Given the description of an element on the screen output the (x, y) to click on. 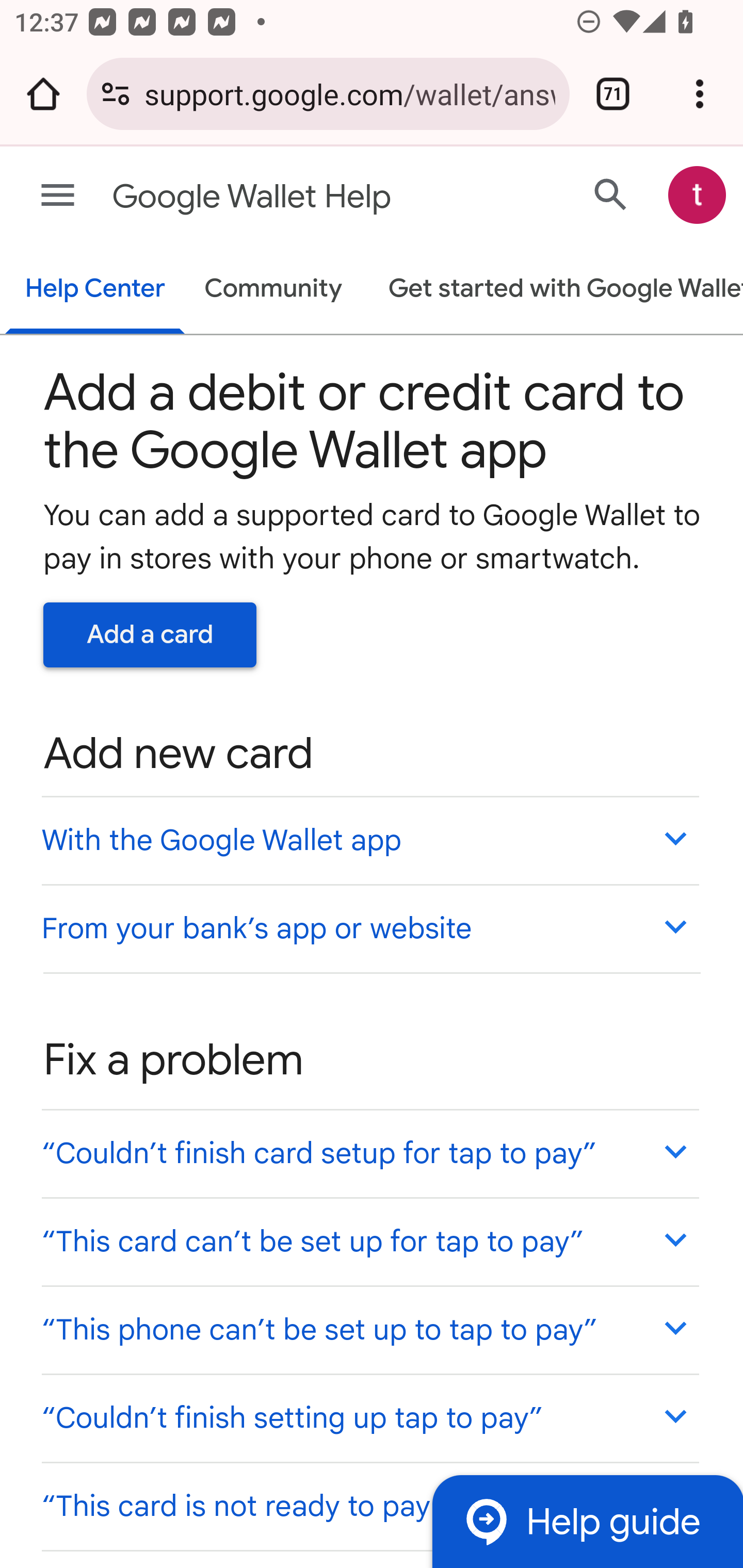
Open the home page (43, 93)
Connection is secure (115, 93)
Switch or close tabs (612, 93)
Customize and control Google Chrome (699, 93)
Main menu (58, 195)
Google Wallet Help (292, 197)
Search Help Center (611, 194)
Help Center (94, 289)
Community (273, 289)
Get started with Google Wallet (555, 289)
Add a card (150, 633)
With the Google Wallet app (369, 839)
From your bank’s app or website (369, 927)
“Couldn’t finish card setup for tap to pay” (369, 1152)
“This card can’t be set up for tap to pay” (369, 1240)
“This phone can’t be set up to tap to pay” (369, 1329)
“Couldn’t finish setting up tap to pay” (369, 1417)
“This card is not ready to pay online” (369, 1504)
Help guide (587, 1520)
